Given the description of an element on the screen output the (x, y) to click on. 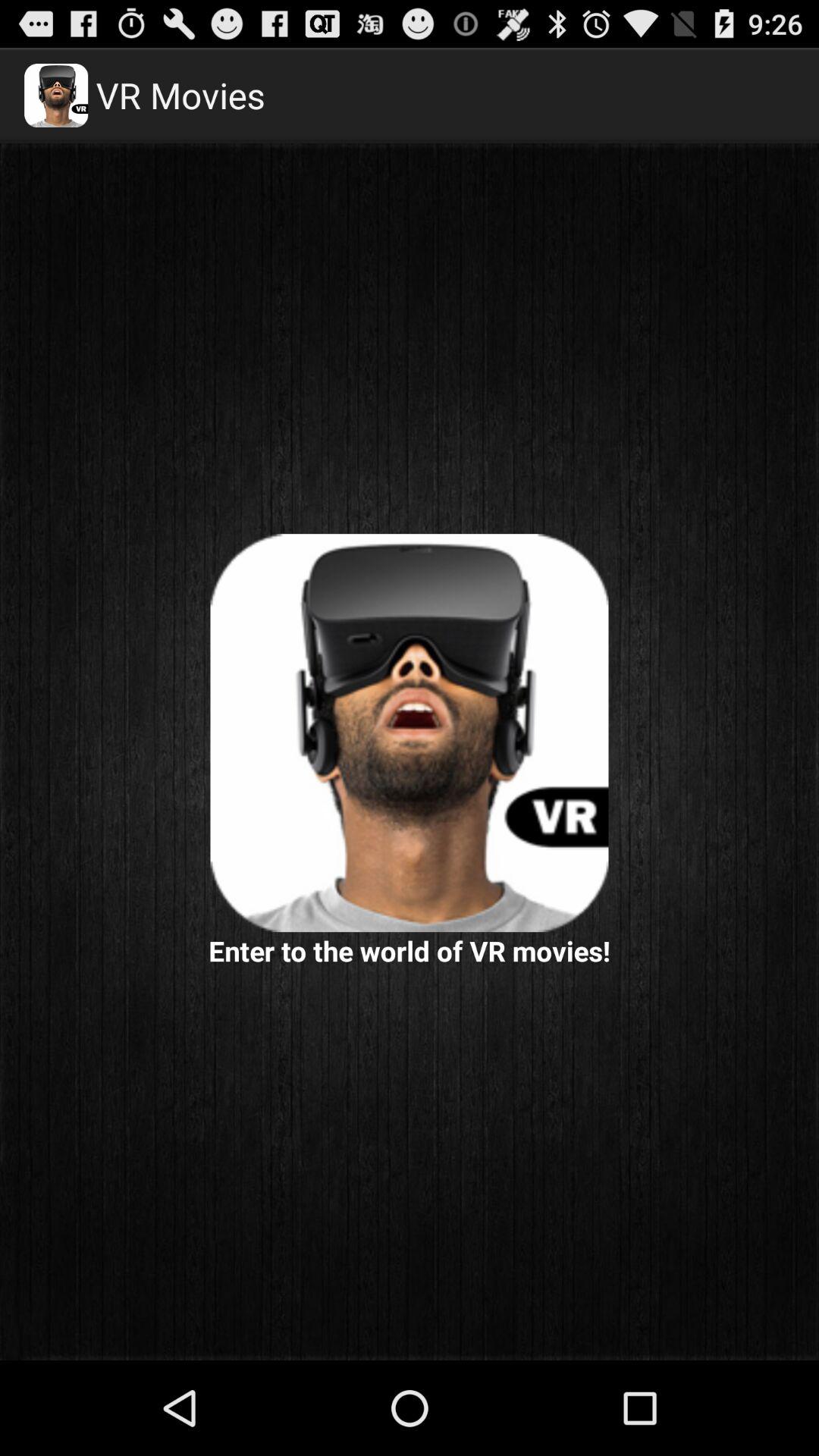
press the app below vr movies app (409, 733)
